Given the description of an element on the screen output the (x, y) to click on. 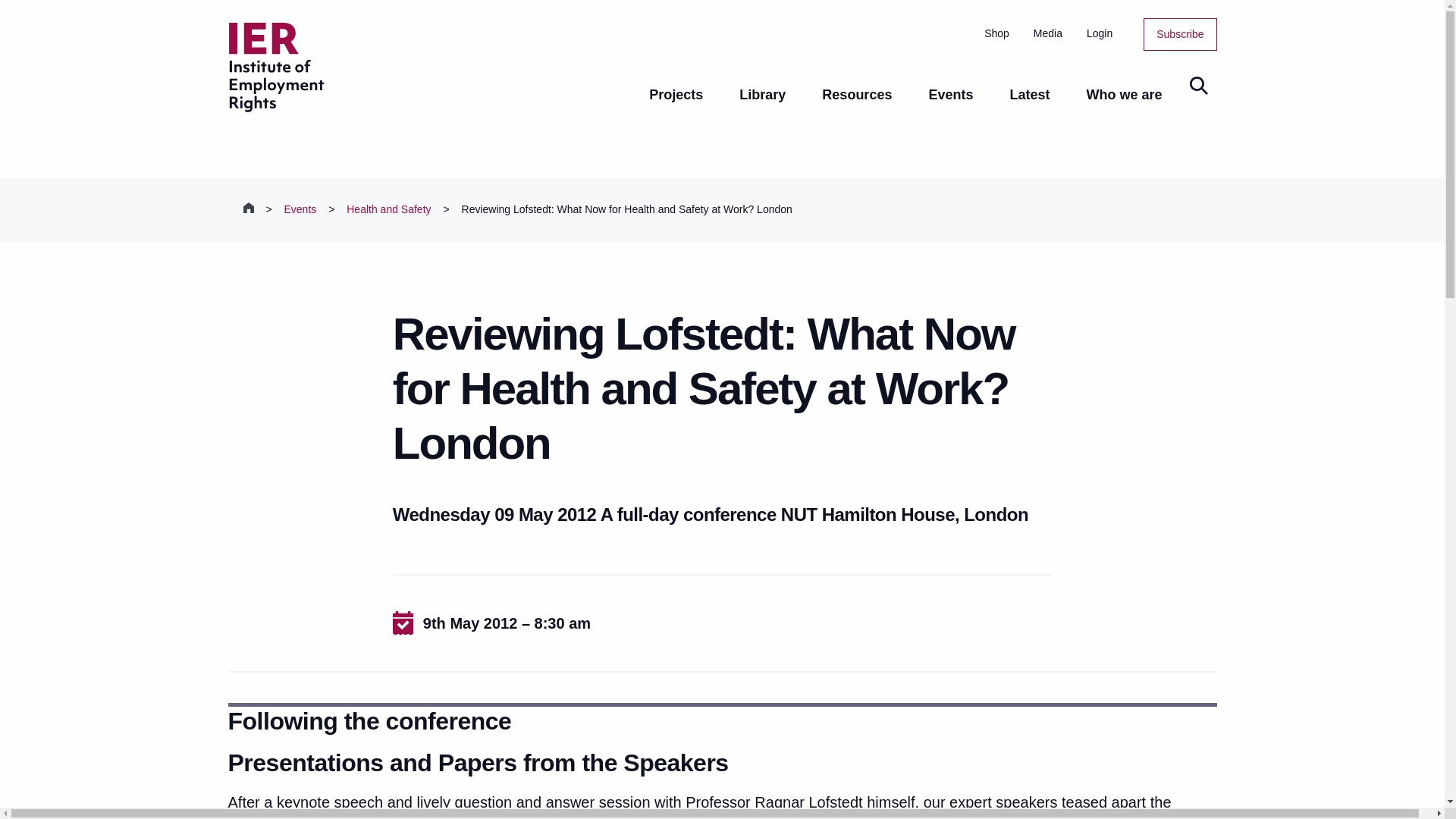
Library (761, 106)
Resources (856, 106)
Events (950, 106)
Media (1048, 34)
Projects (675, 106)
Shop (997, 34)
Who we are (1123, 106)
Search (1197, 85)
Login (1099, 34)
Subscribe (1179, 33)
Go to Events. (299, 209)
Latest (1029, 106)
Go to the Health and Safety tag archives. (388, 209)
